Given the description of an element on the screen output the (x, y) to click on. 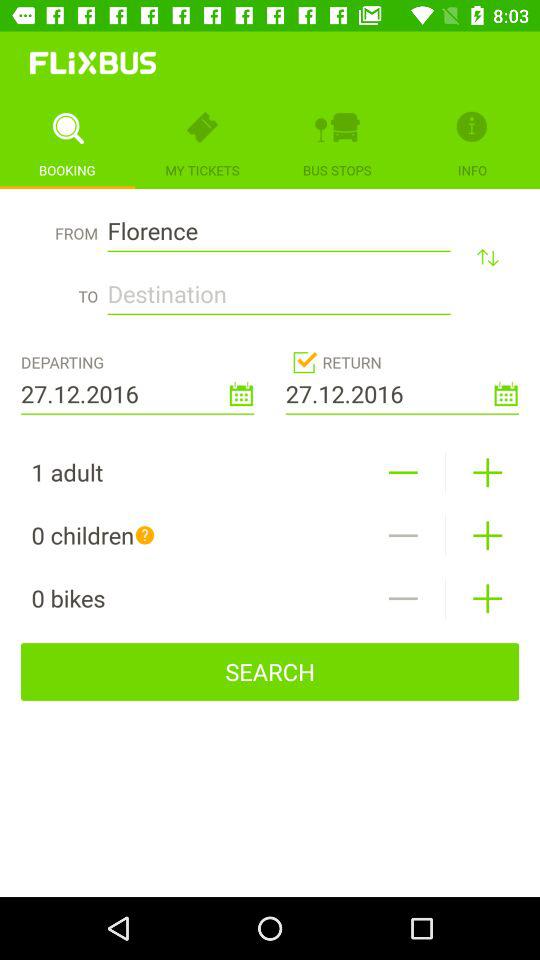
destination field (278, 288)
